Given the description of an element on the screen output the (x, y) to click on. 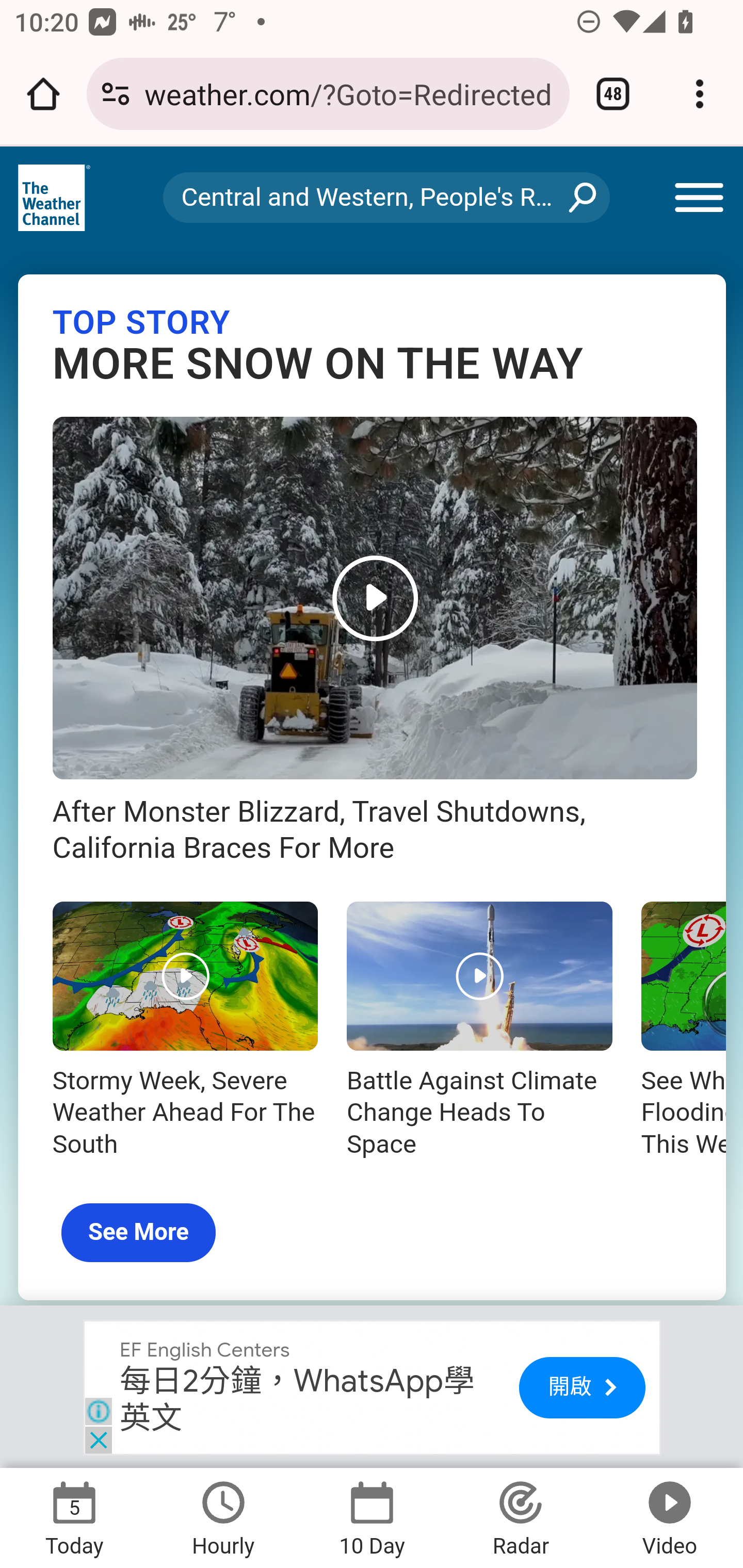
Open the home page (43, 93)
Connection is secure (115, 93)
Switch or close tabs (612, 93)
Customize and control Google Chrome (699, 93)
weather.com/?Goto=Redirected (349, 92)
The Weather Channel (54, 198)
Menu (702, 197)
Search City or Zip Code (386, 197)
See More (138, 1232)
q=>q("wxu-today-details","currentConditions",Q(q)) (371, 1444)
Daily Today Daily Today (74, 1517)
Hourly Hourly Hourly Hourly (222, 1517)
Ten Day 10 Day Ten Day 10 Day (372, 1517)
Radar Radar Radar Radar (520, 1517)
Video Video Video Video (668, 1517)
